Given the description of an element on the screen output the (x, y) to click on. 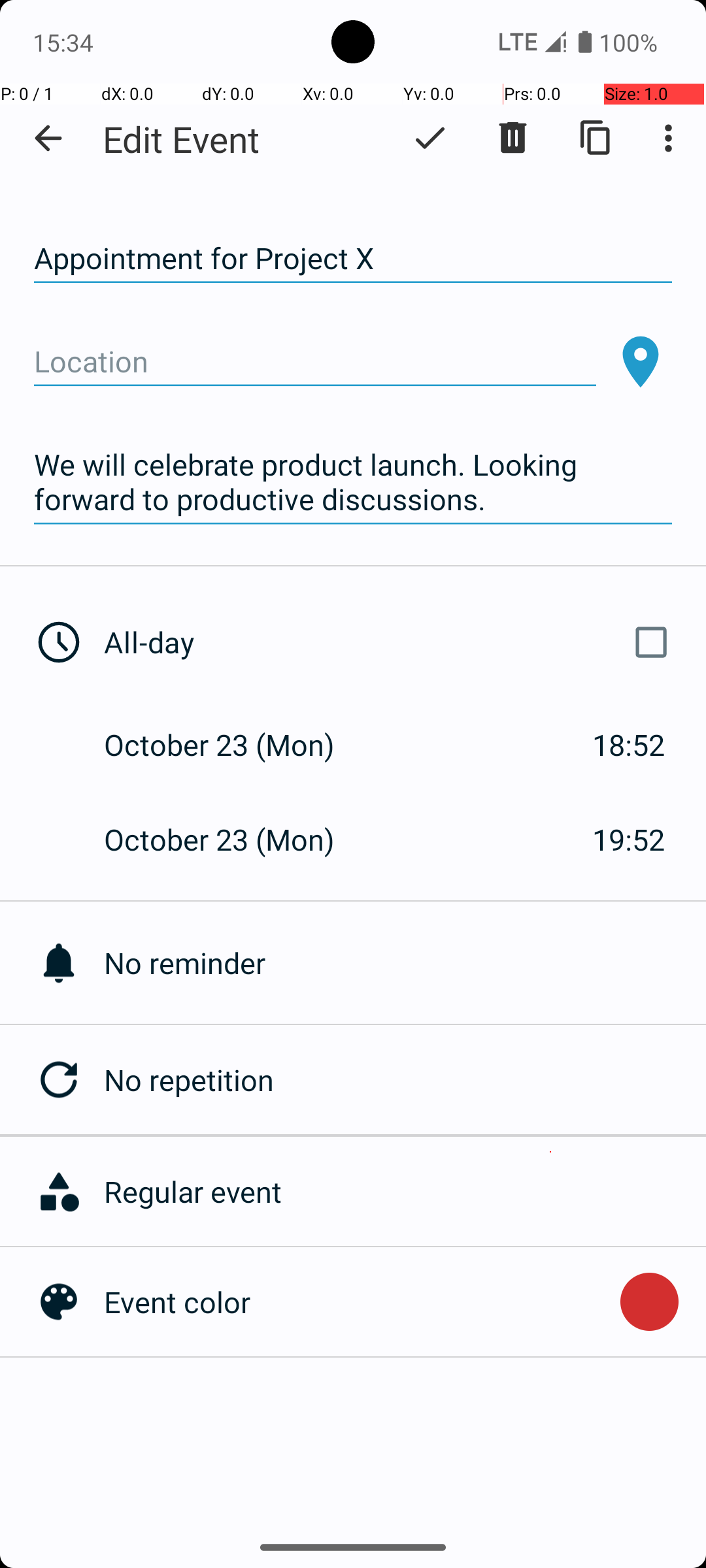
We will celebrate product launch. Looking forward to productive discussions. Element type: android.widget.EditText (352, 482)
October 23 (Mon) Element type: android.widget.TextView (232, 744)
18:52 Element type: android.widget.TextView (628, 744)
19:52 Element type: android.widget.TextView (628, 838)
